Given the description of an element on the screen output the (x, y) to click on. 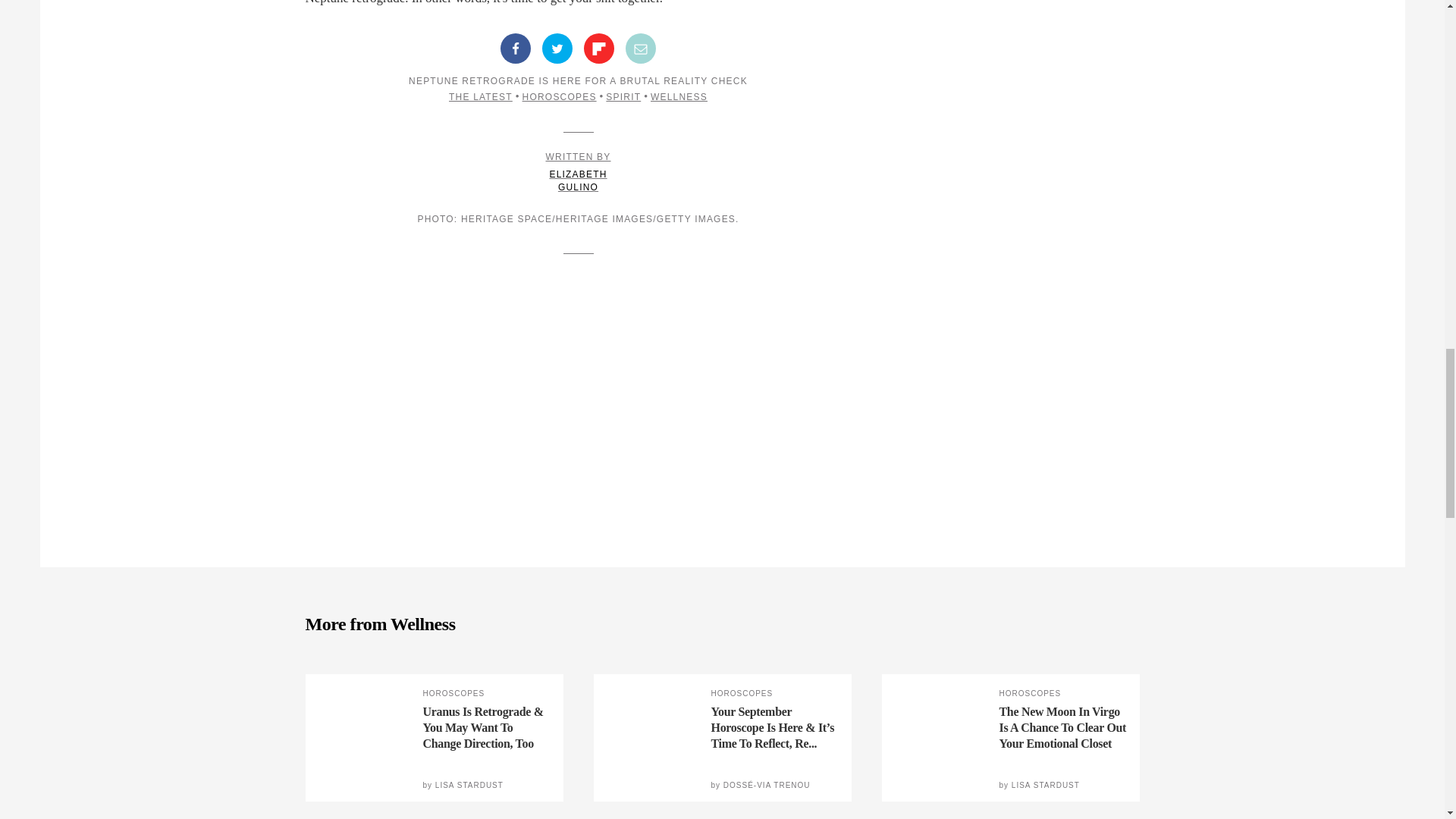
WELLNESS (678, 96)
Share by Email (577, 172)
Share on Twitter (641, 48)
Share on Flipboard (556, 48)
THE LATEST (598, 48)
SPIRIT (480, 96)
HOROSCOPES (622, 96)
